Given the description of an element on the screen output the (x, y) to click on. 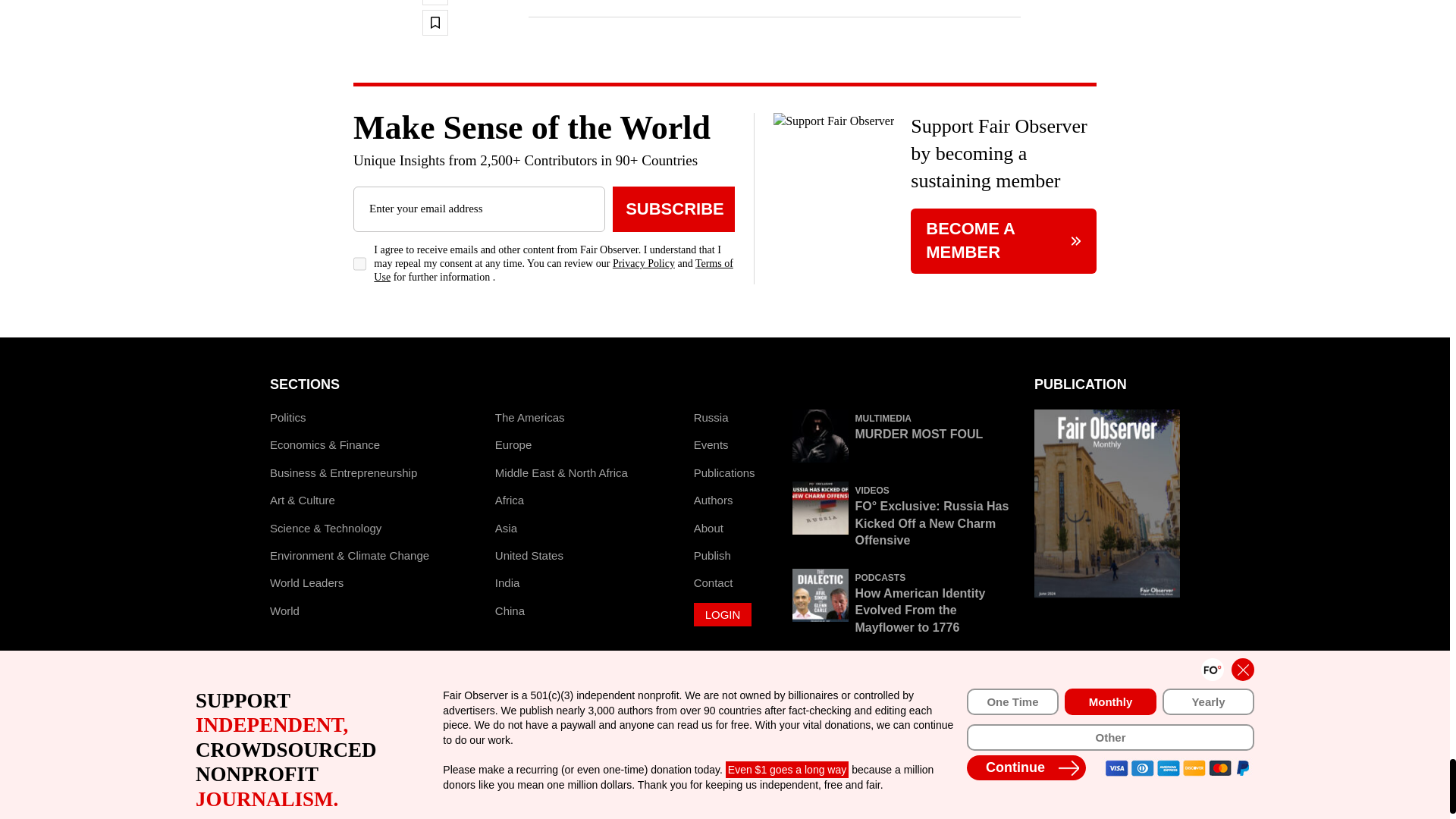
SUBSCRIBE (673, 208)
